Given the description of an element on the screen output the (x, y) to click on. 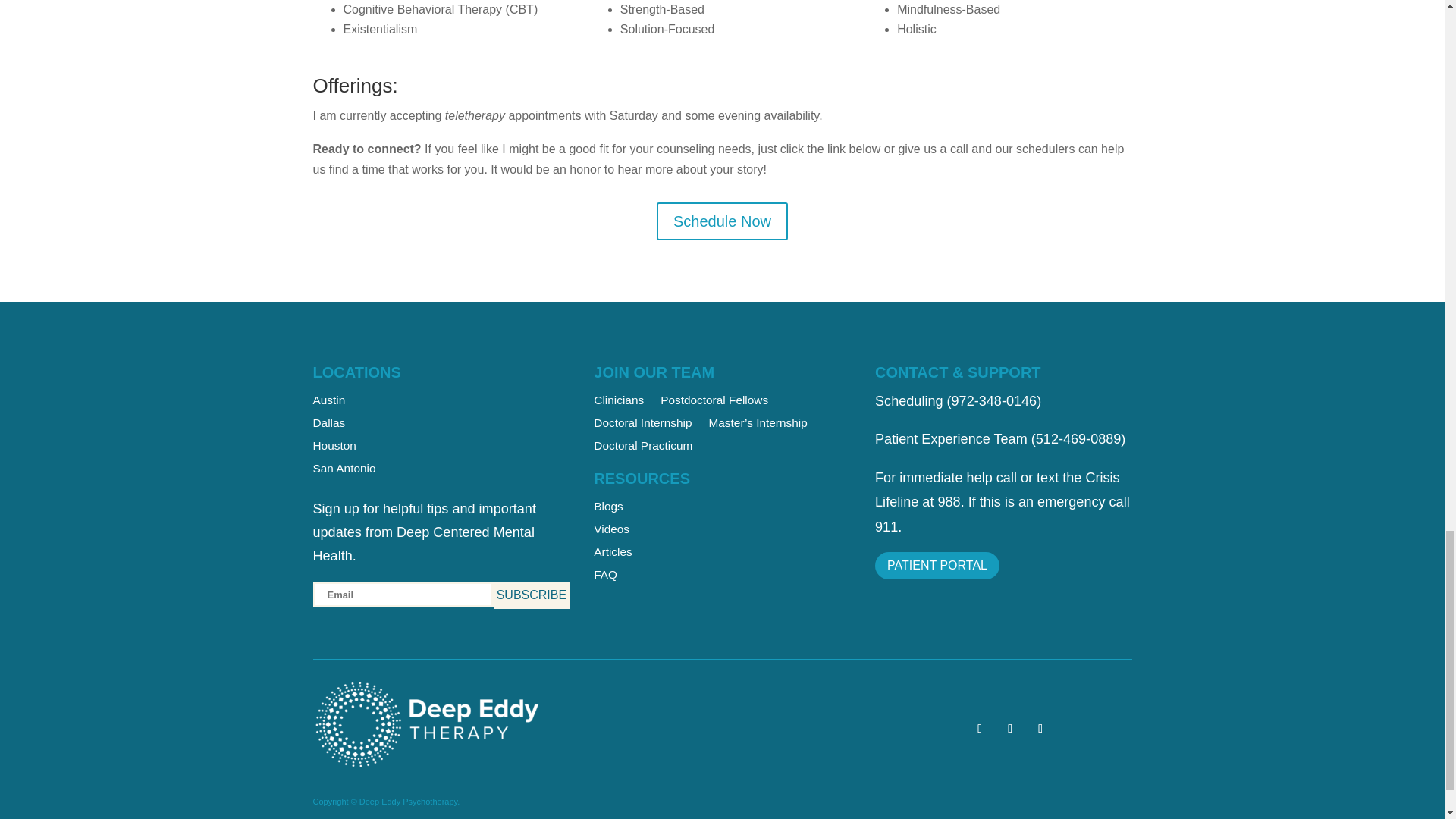
Follow on Youtube (979, 728)
Follow on Instagram (1039, 728)
White Horizontal (426, 724)
Follow on Facebook (1009, 728)
